Given the description of an element on the screen output the (x, y) to click on. 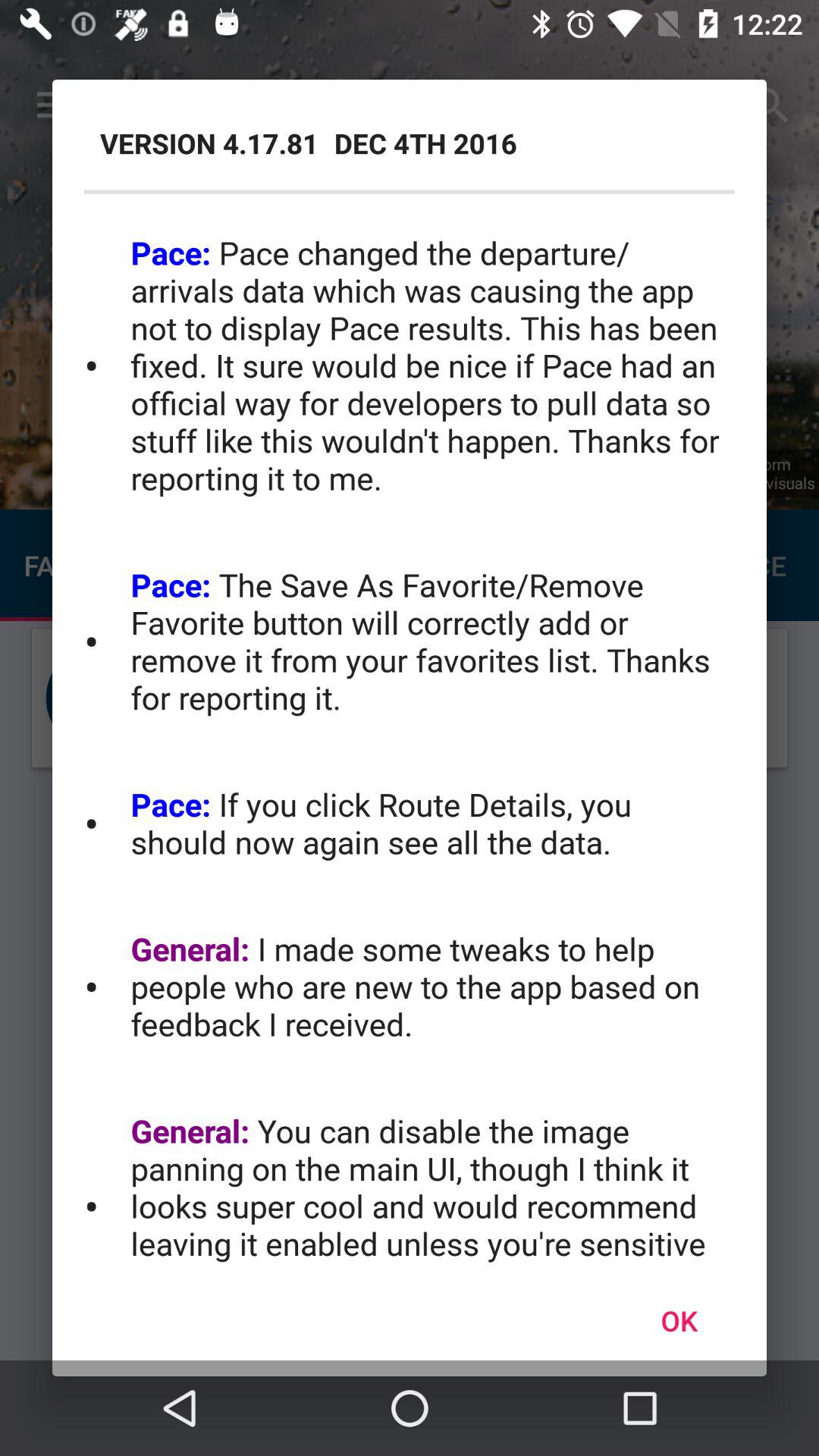
turn on the ok icon (678, 1320)
